Given the description of an element on the screen output the (x, y) to click on. 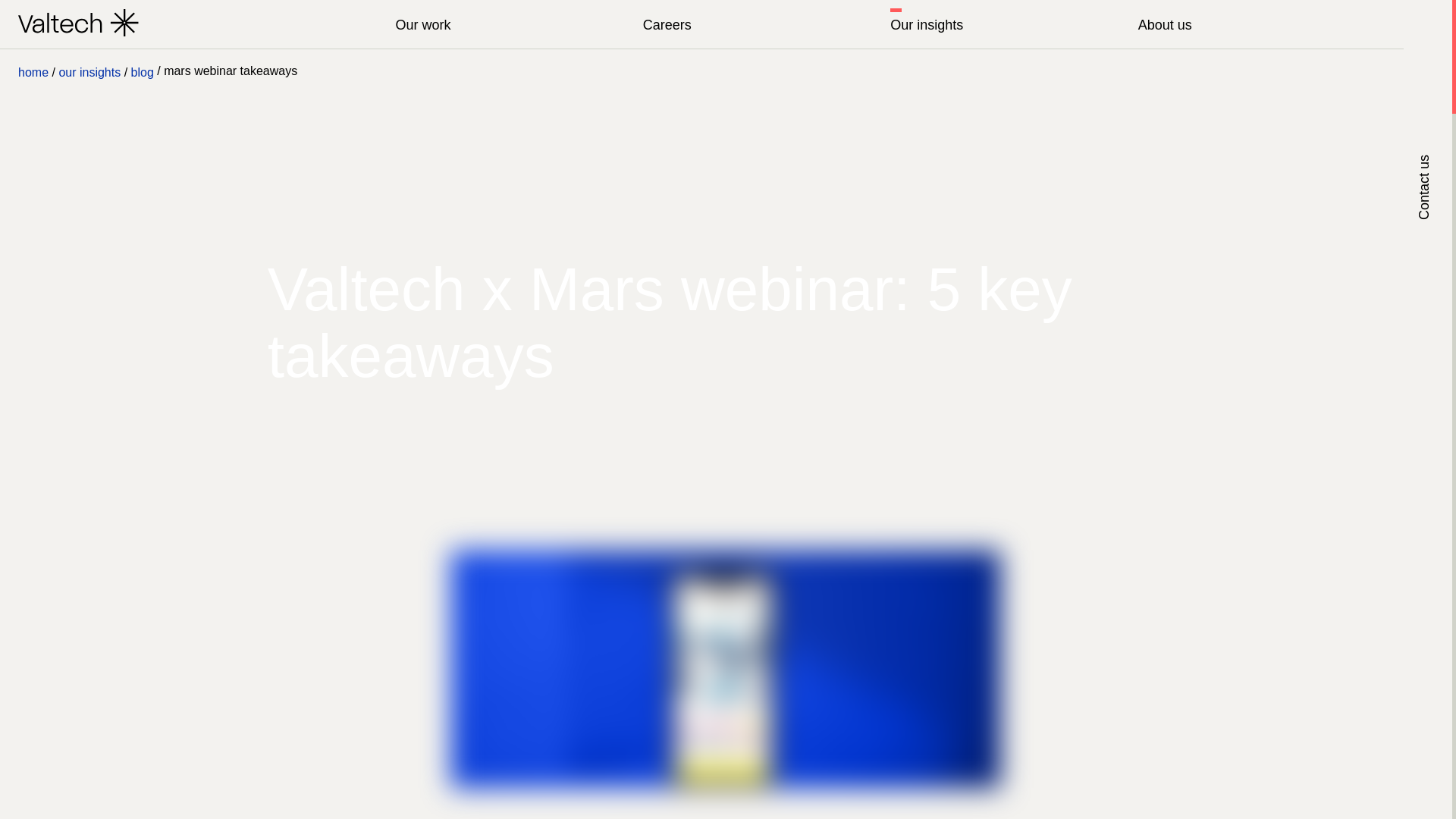
Our insights (1003, 24)
About us (1251, 24)
Our work (508, 24)
Careers (756, 24)
